Given the description of an element on the screen output the (x, y) to click on. 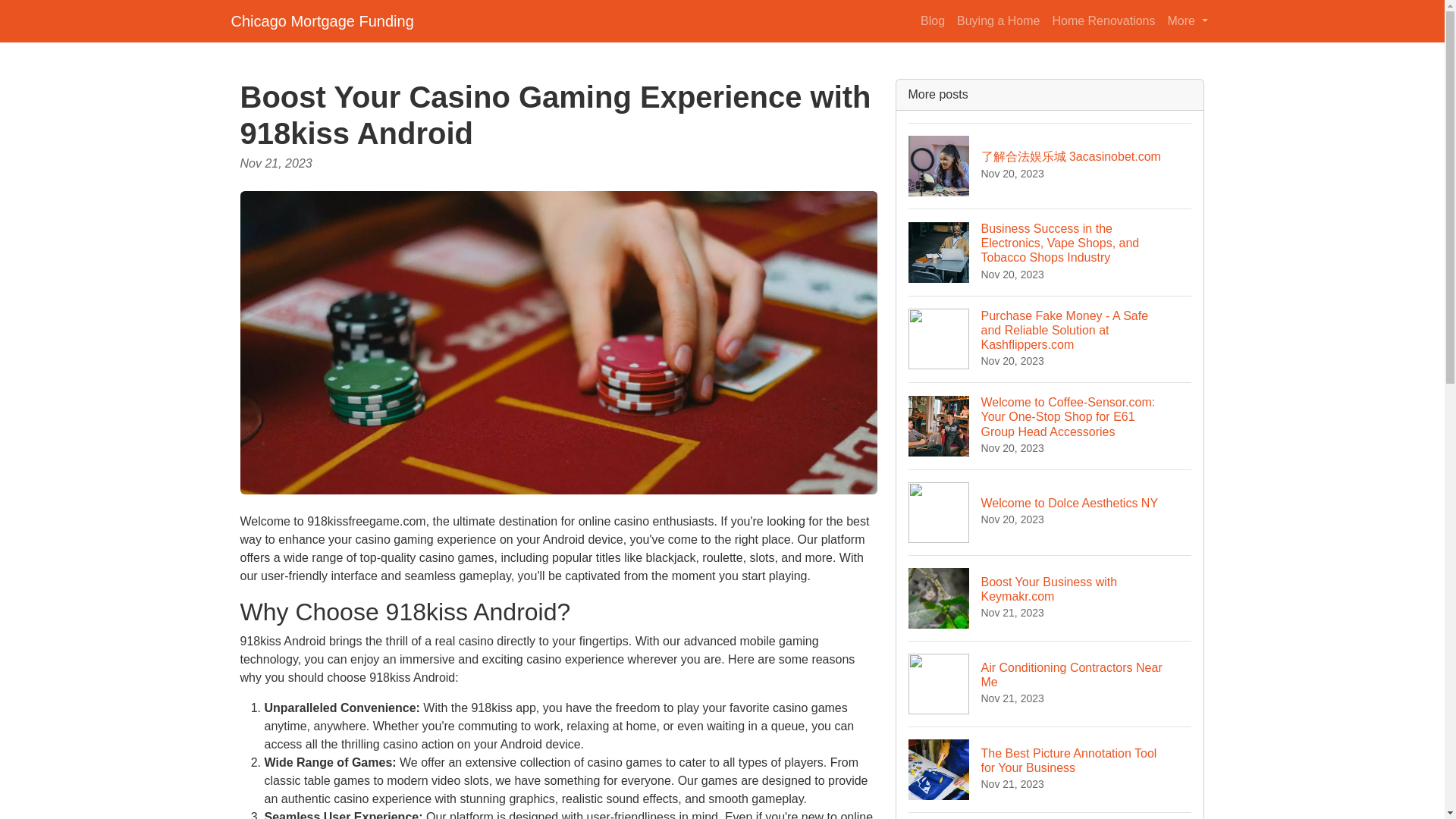
Chicago Mortgage Funding (321, 20)
Home Renovations (1102, 20)
More (1050, 597)
